Given the description of an element on the screen output the (x, y) to click on. 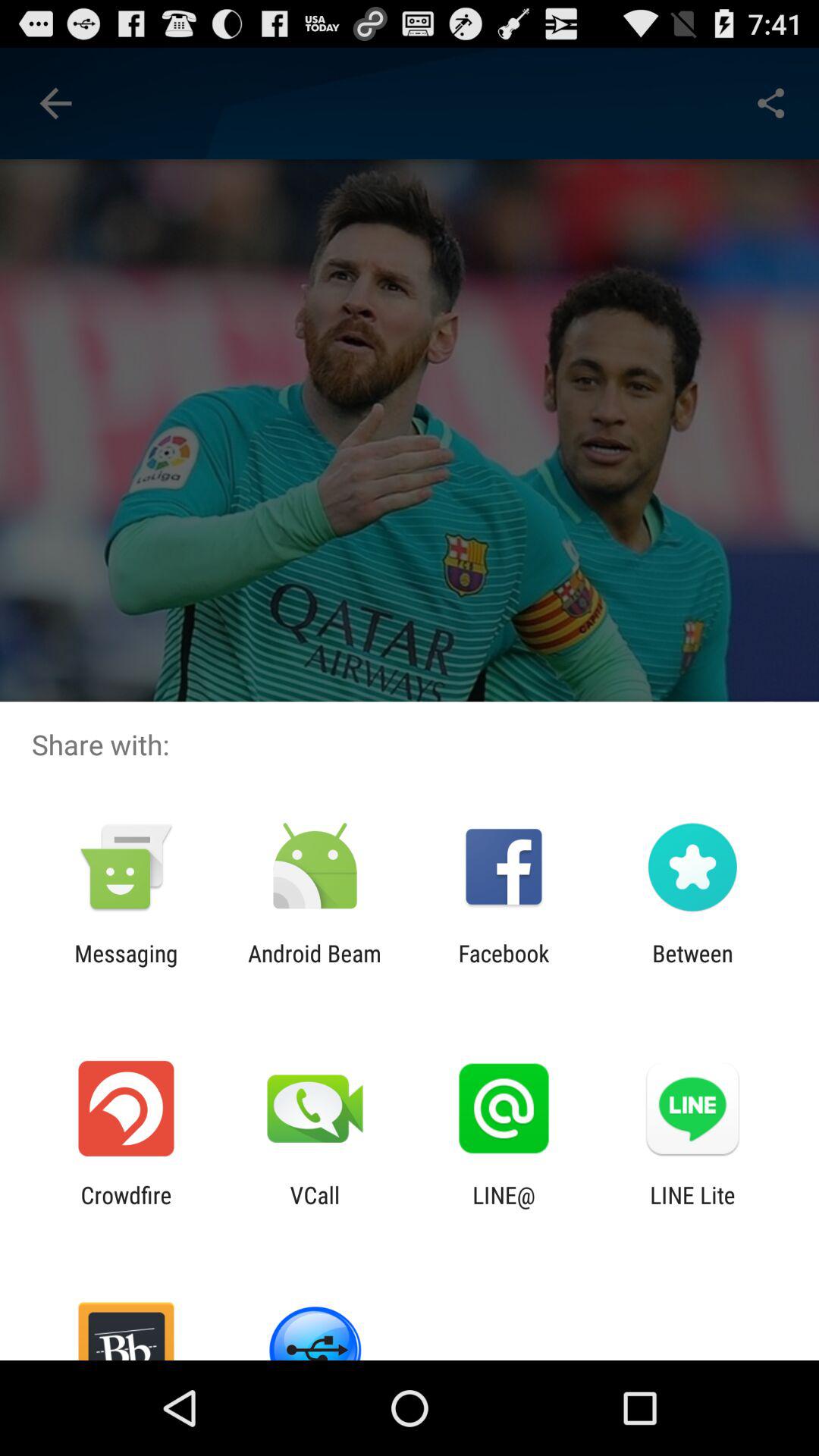
scroll to the facebook icon (503, 966)
